Given the description of an element on the screen output the (x, y) to click on. 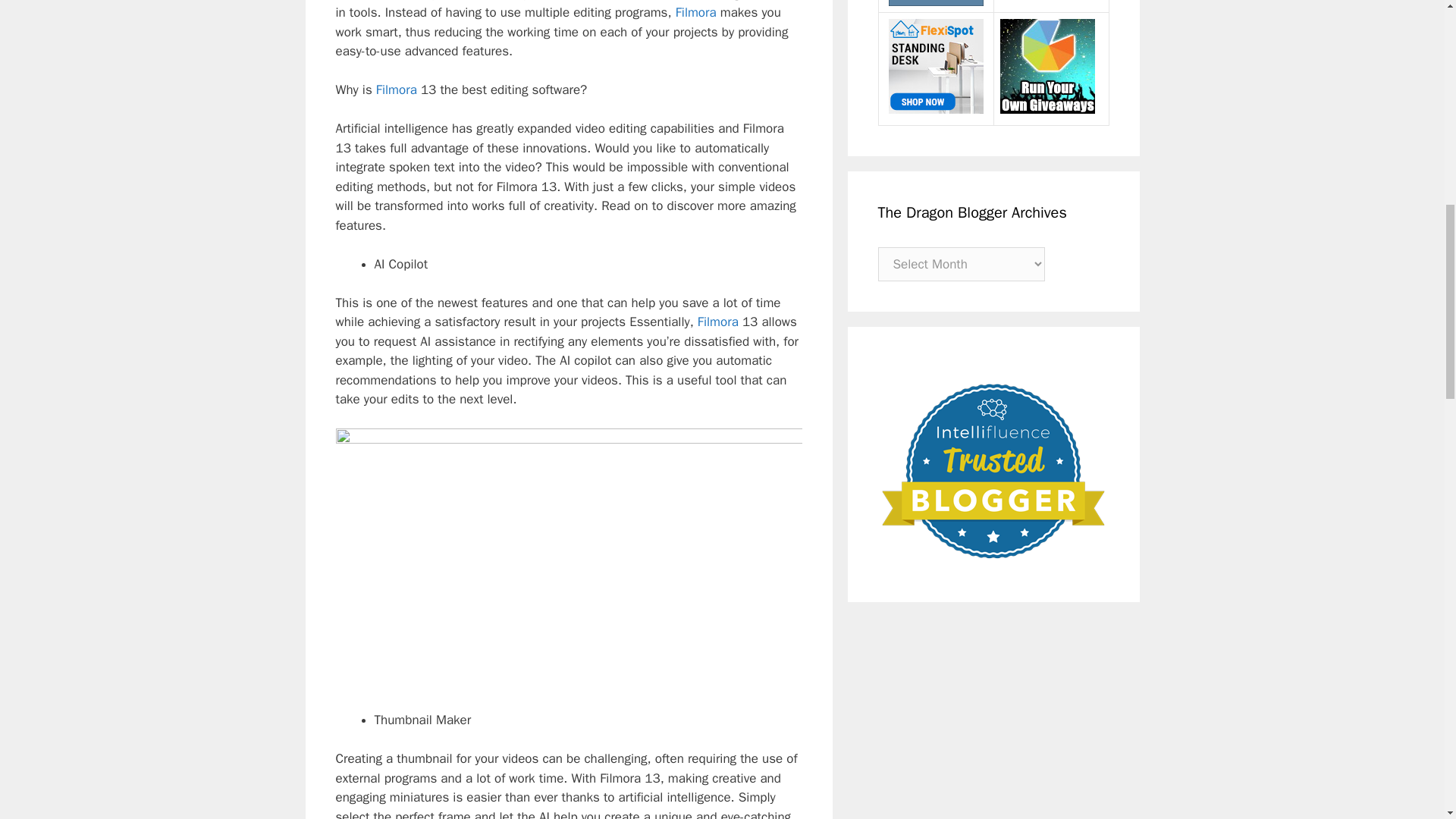
filmora (384, 0)
